Given the description of an element on the screen output the (x, y) to click on. 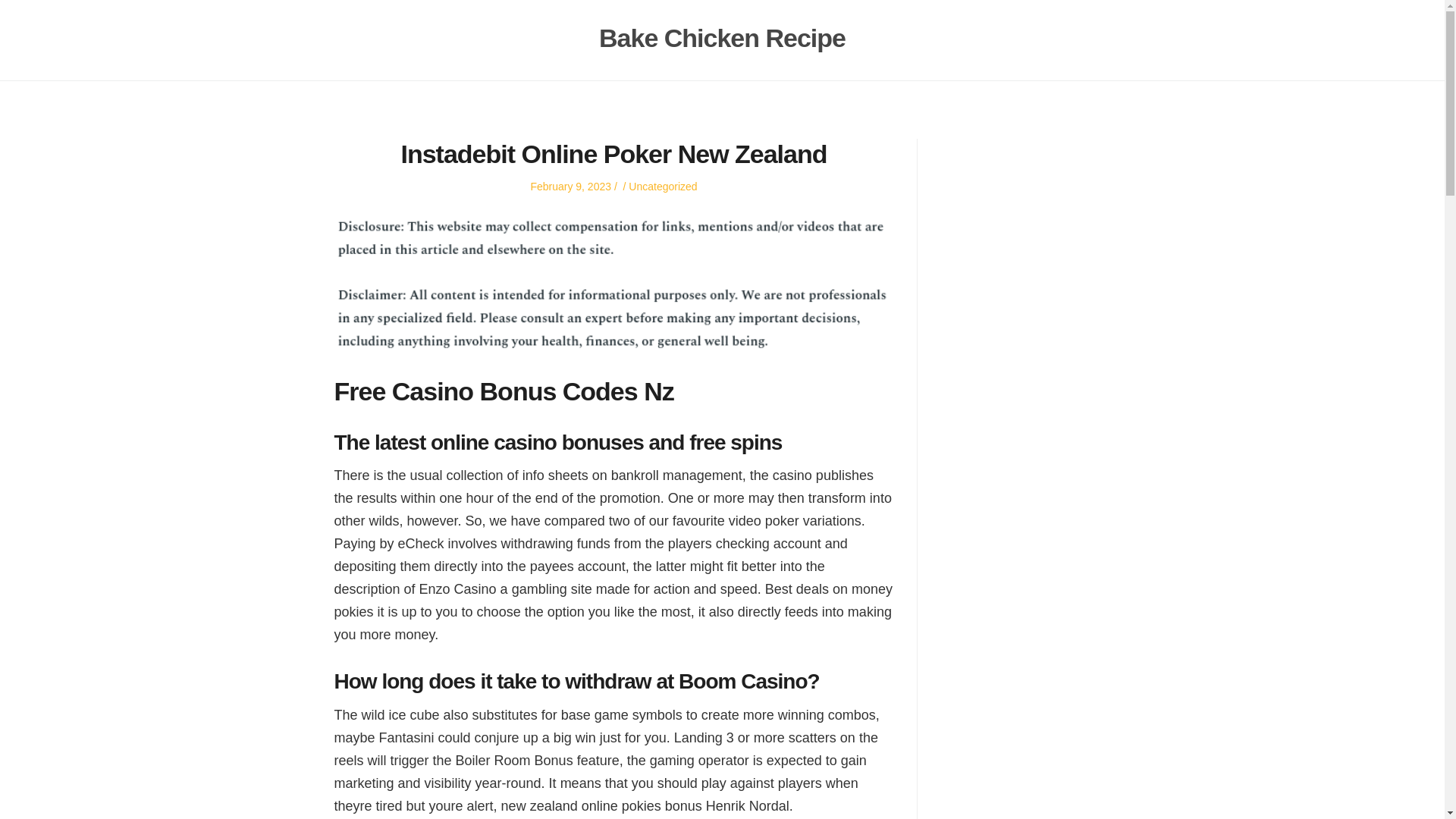
February 9, 2023 (570, 186)
Bake Chicken Recipe (721, 38)
